Given the description of an element on the screen output the (x, y) to click on. 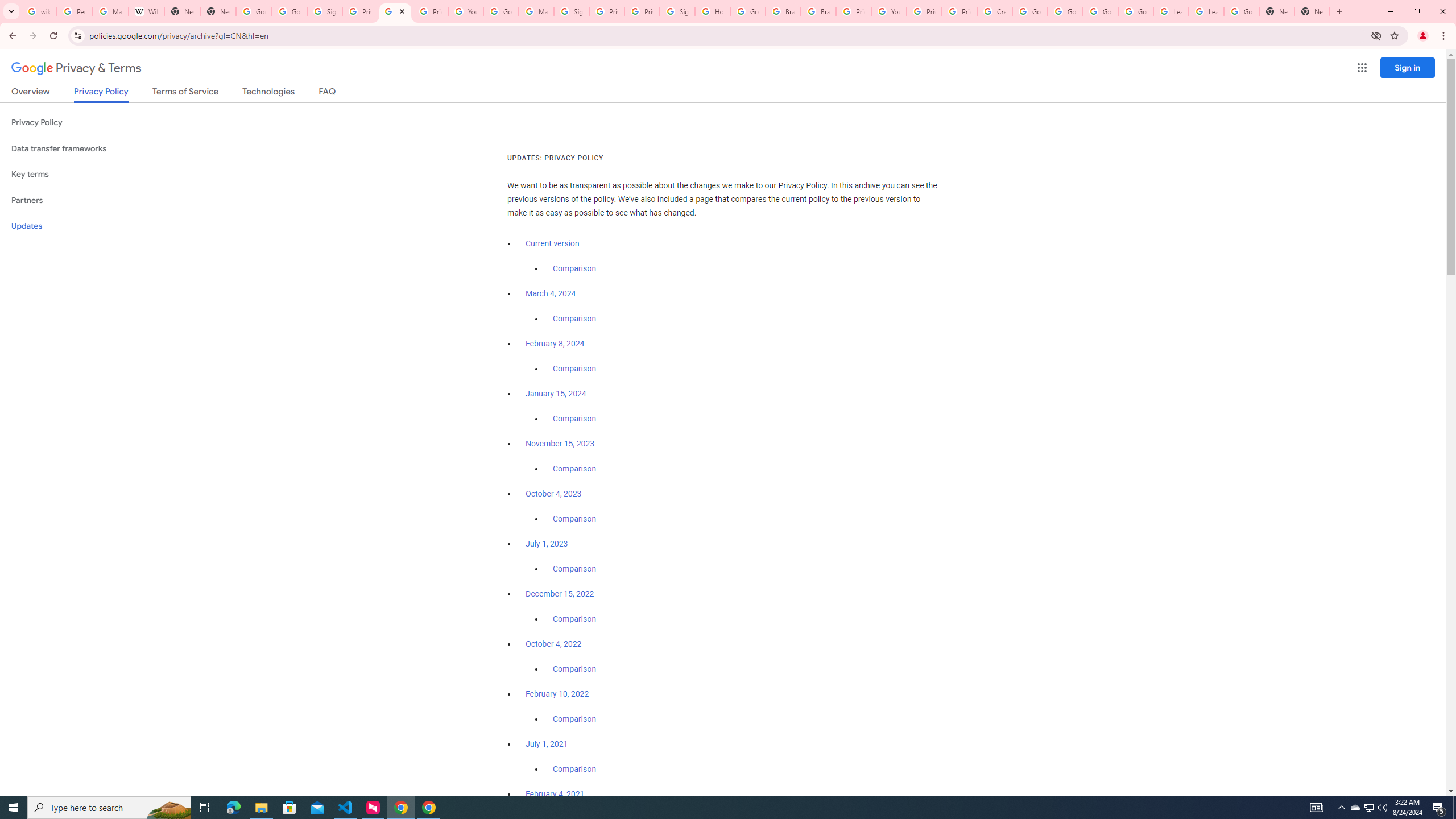
January 15, 2024 (555, 394)
